Given the description of an element on the screen output the (x, y) to click on. 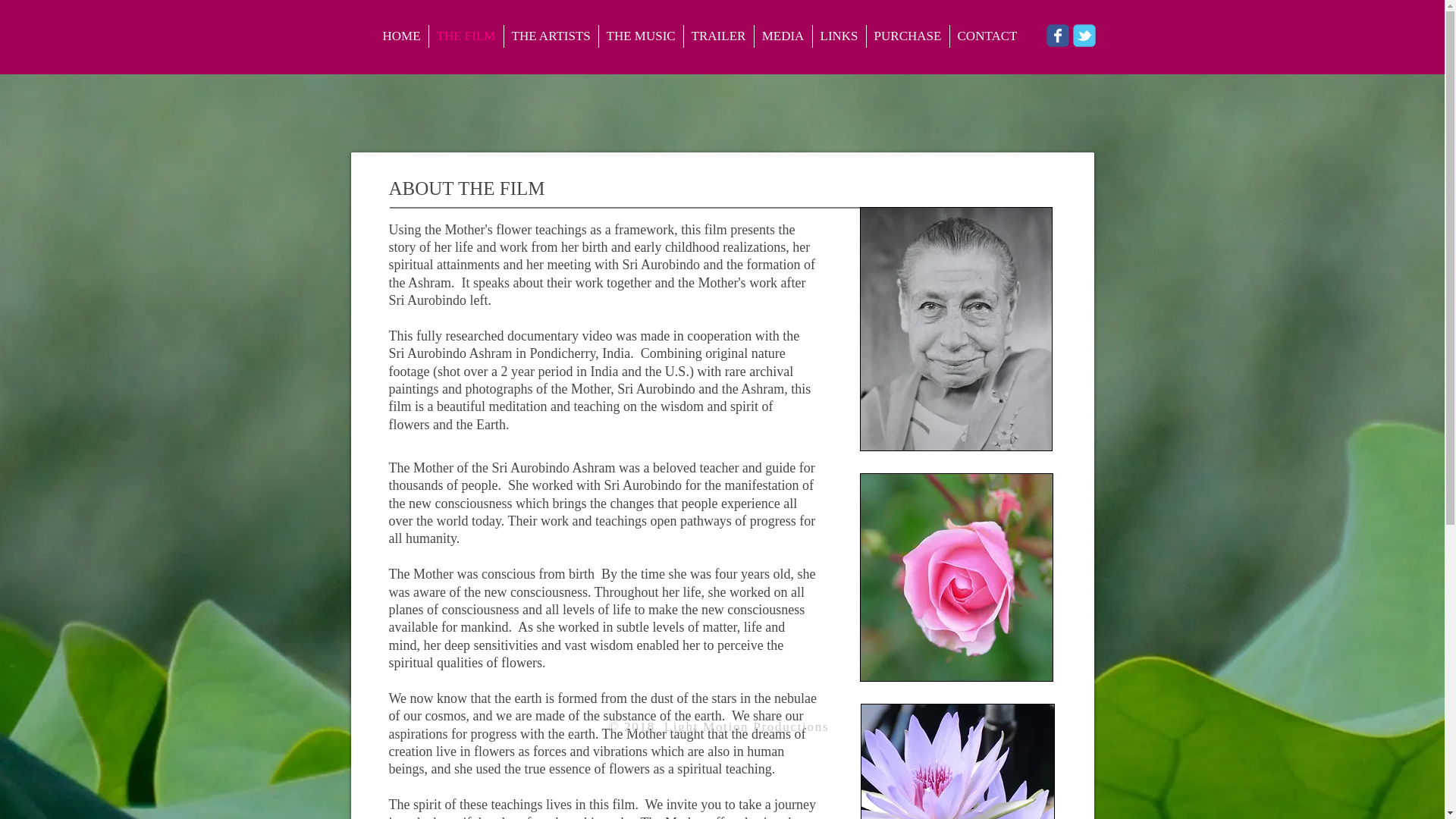
THE MUSIC (640, 36)
LINKS (839, 36)
PURCHASE (907, 36)
TRAILER (719, 36)
THE FILM (466, 36)
MEDIA (782, 36)
HOME (401, 36)
CONTACT (987, 36)
THE ARTISTS (549, 36)
